Given the description of an element on the screen output the (x, y) to click on. 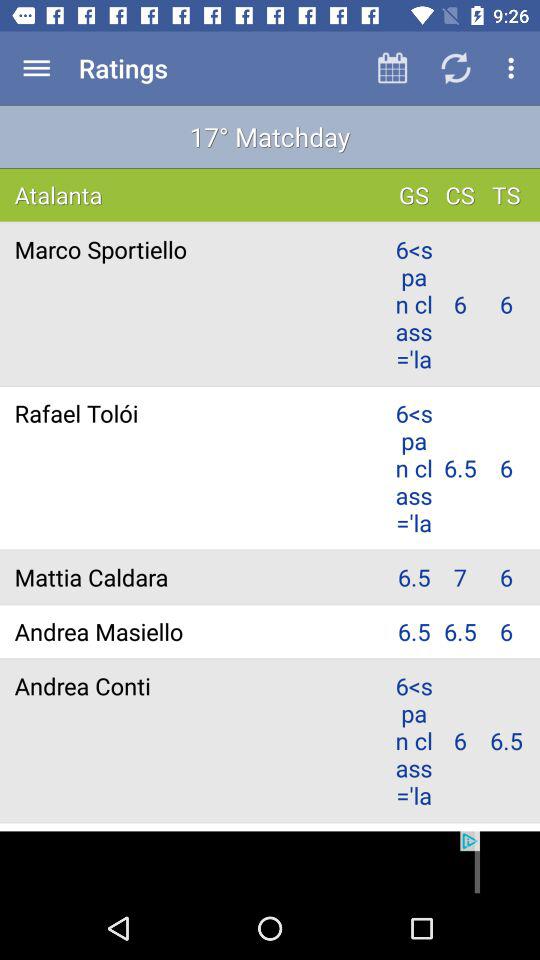
go to menu (36, 68)
